Given the description of an element on the screen output the (x, y) to click on. 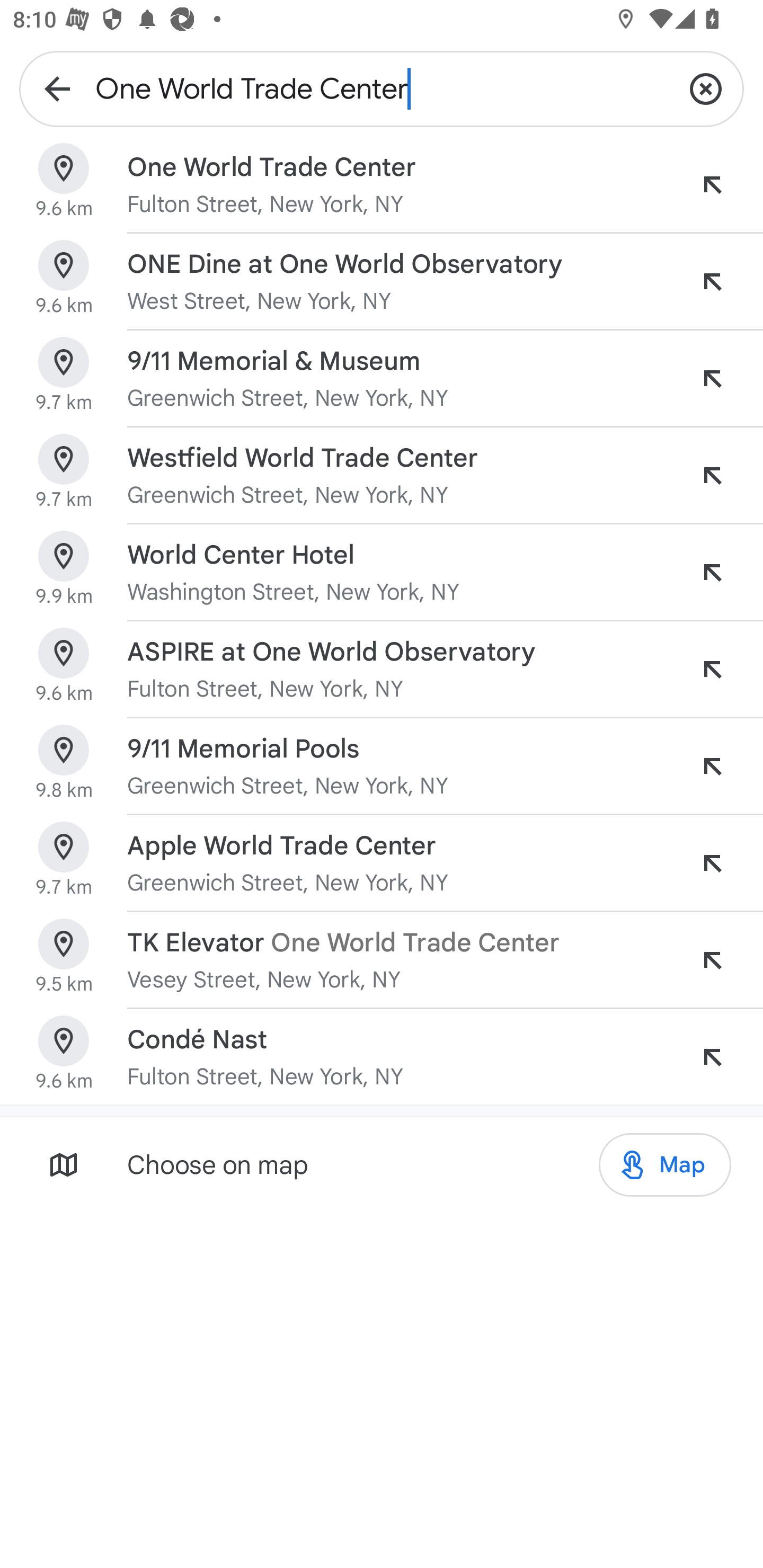
Navigate up (57, 88)
One World Trade Center (381, 88)
Clear (705, 88)
Choose on map Map Map Map (381, 1164)
Map Map Map (664, 1164)
